Given the description of an element on the screen output the (x, y) to click on. 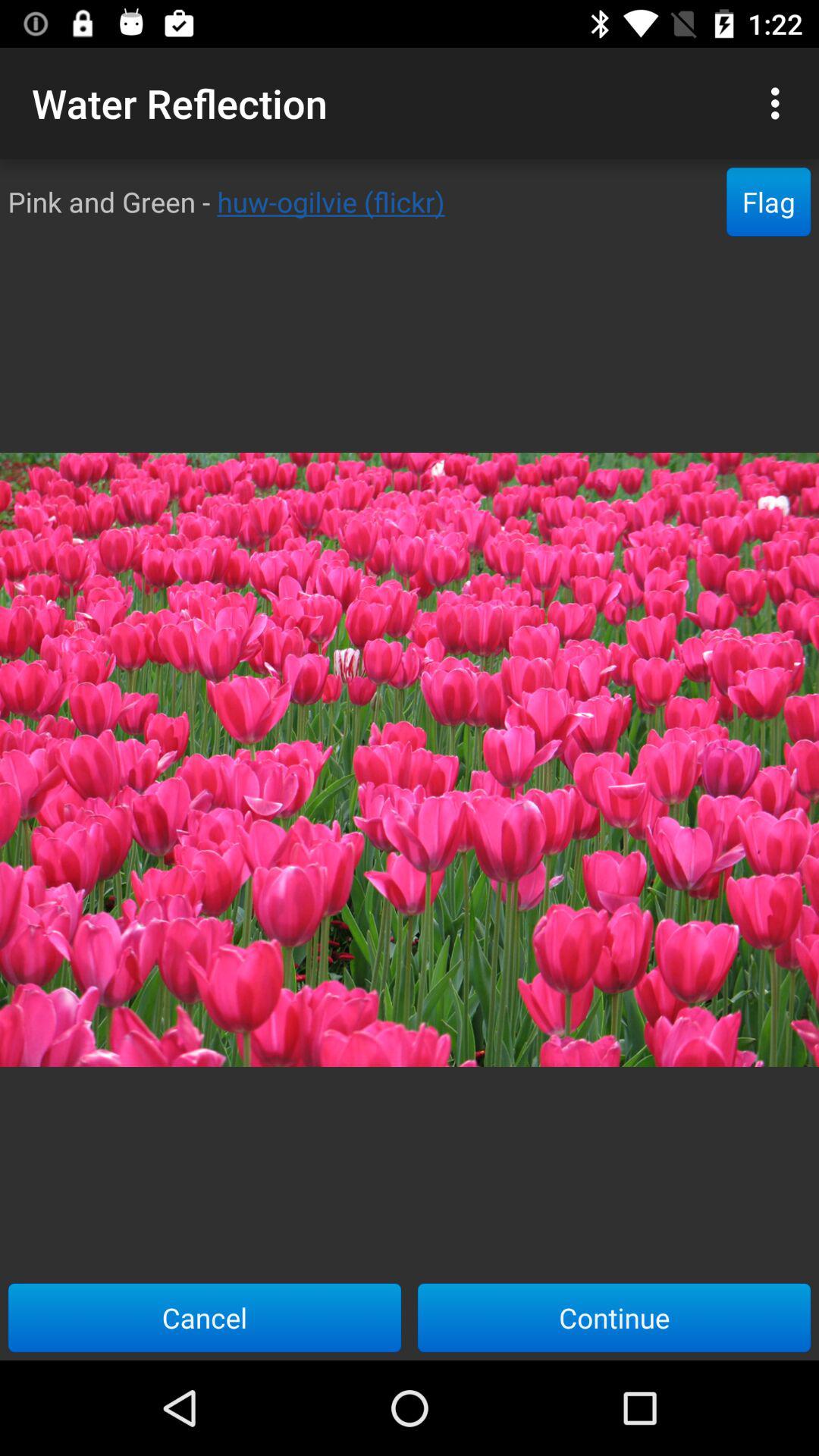
select the icon to the right of water reflection item (779, 103)
